Given the description of an element on the screen output the (x, y) to click on. 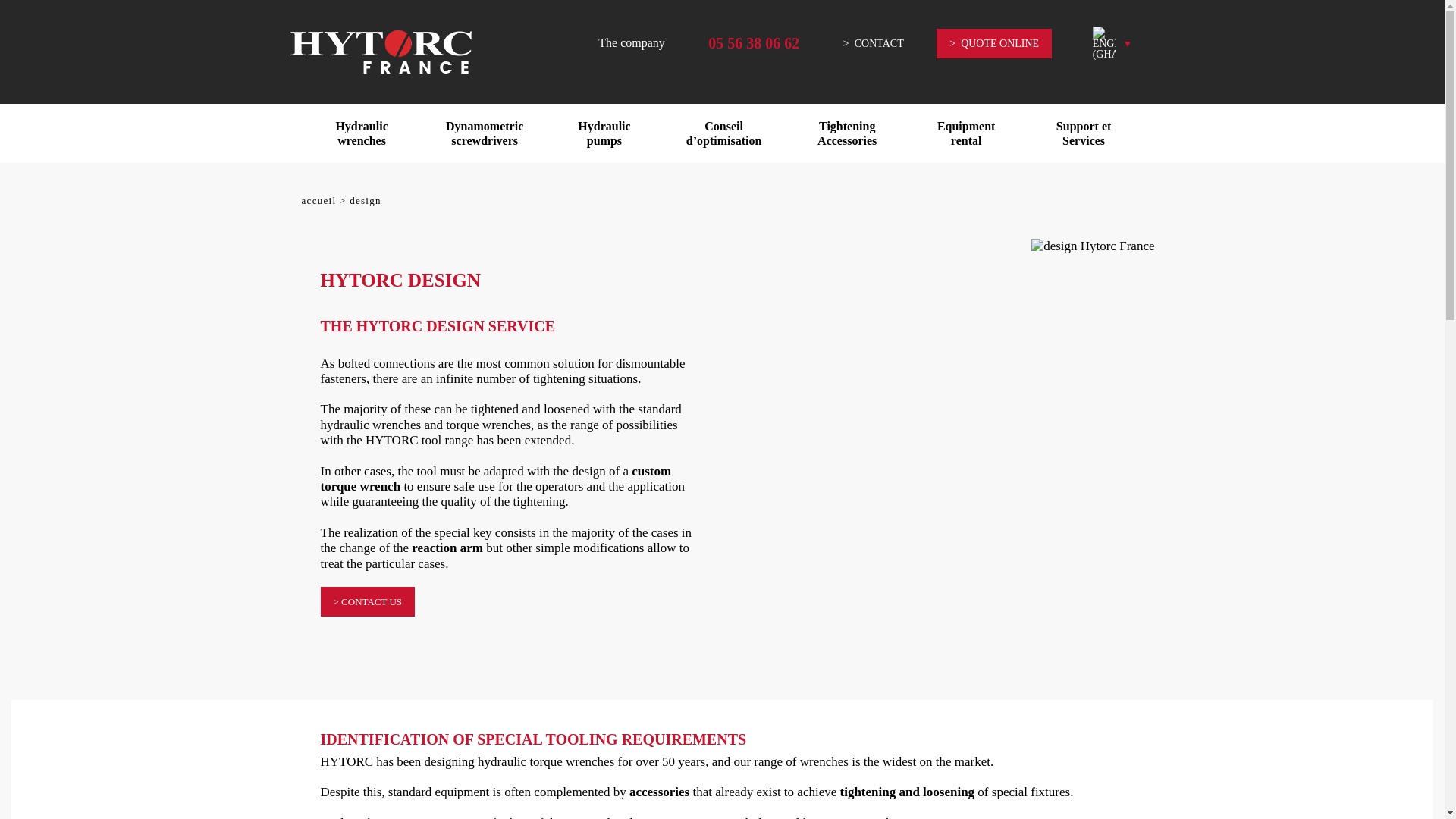
Dynamometric screwdrivers (484, 133)
Equipment rental (966, 133)
Conseil d'optimisation (723, 133)
Support et Services (1083, 133)
QUOTE ONLINE (993, 43)
Hydraulic pumps (604, 133)
Support et Services (1083, 133)
CONTACT (873, 43)
Hydraulic wrenches (361, 133)
The company (631, 42)
